Given the description of an element on the screen output the (x, y) to click on. 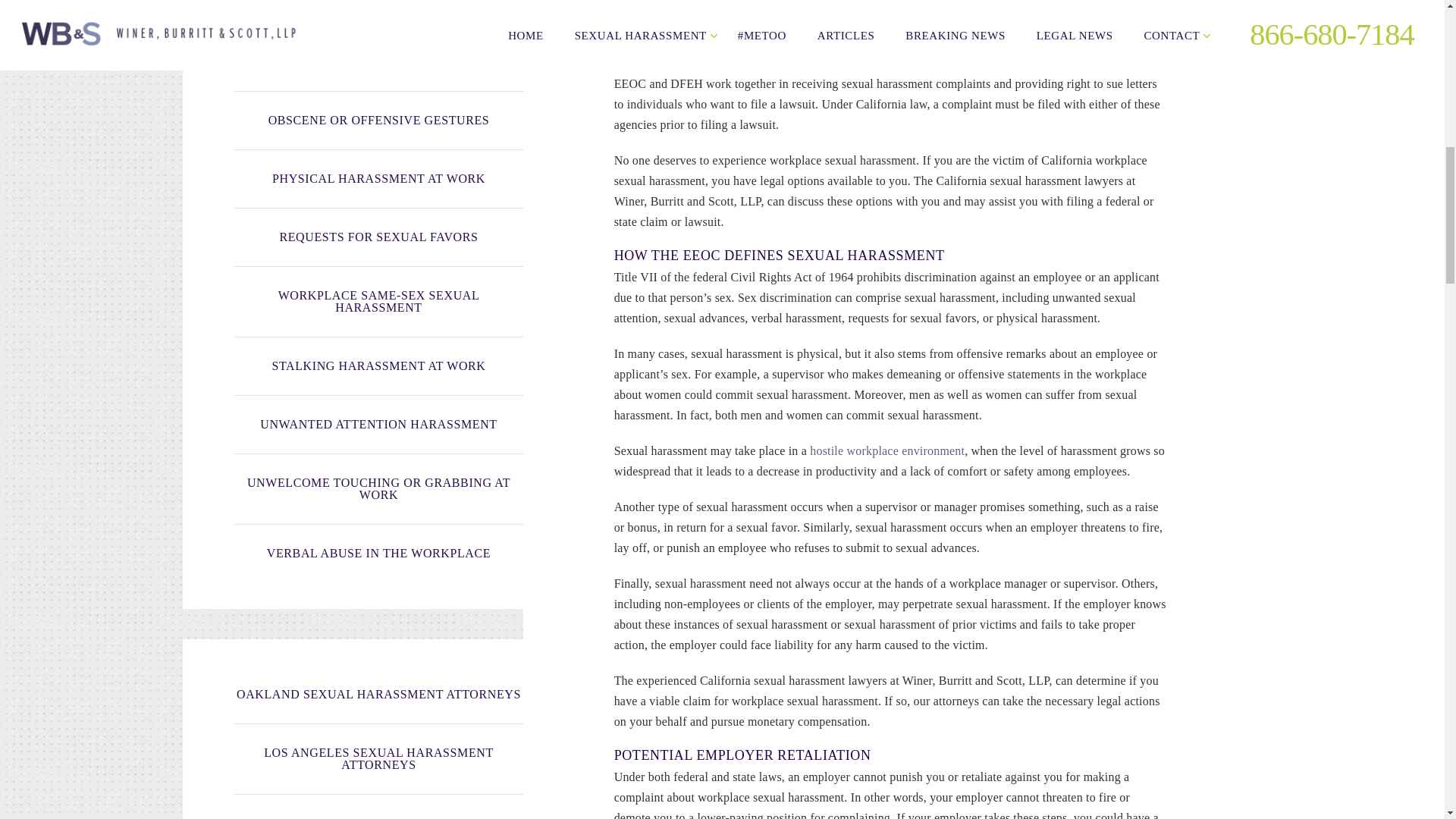
MANAGER TO EMPLOYEE SEXUAL HARASSMENT (378, 56)
hostile workplace environment (886, 450)
HOSTILE WORK ENVIRONMENT (378, 10)
California Department of Fair Employment and Housing (885, 62)
